Given the description of an element on the screen output the (x, y) to click on. 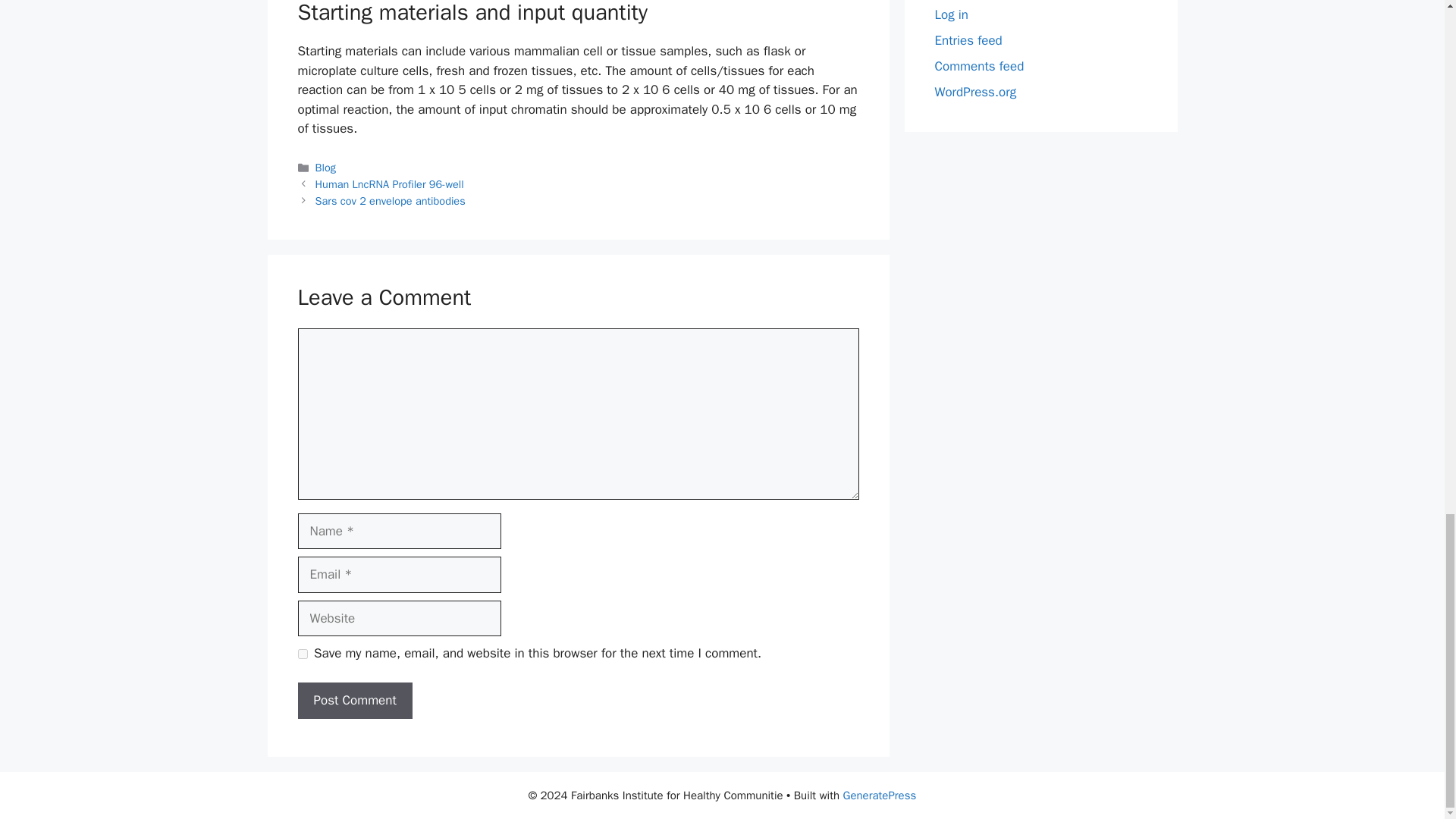
Previous (389, 183)
Next (390, 201)
Blog (325, 167)
Post Comment (354, 700)
yes (302, 654)
Sars cov 2 envelope antibodies (390, 201)
Human LncRNA Profiler 96-well (389, 183)
Entries feed (967, 40)
Log in (951, 14)
Post Comment (354, 700)
